Given the description of an element on the screen output the (x, y) to click on. 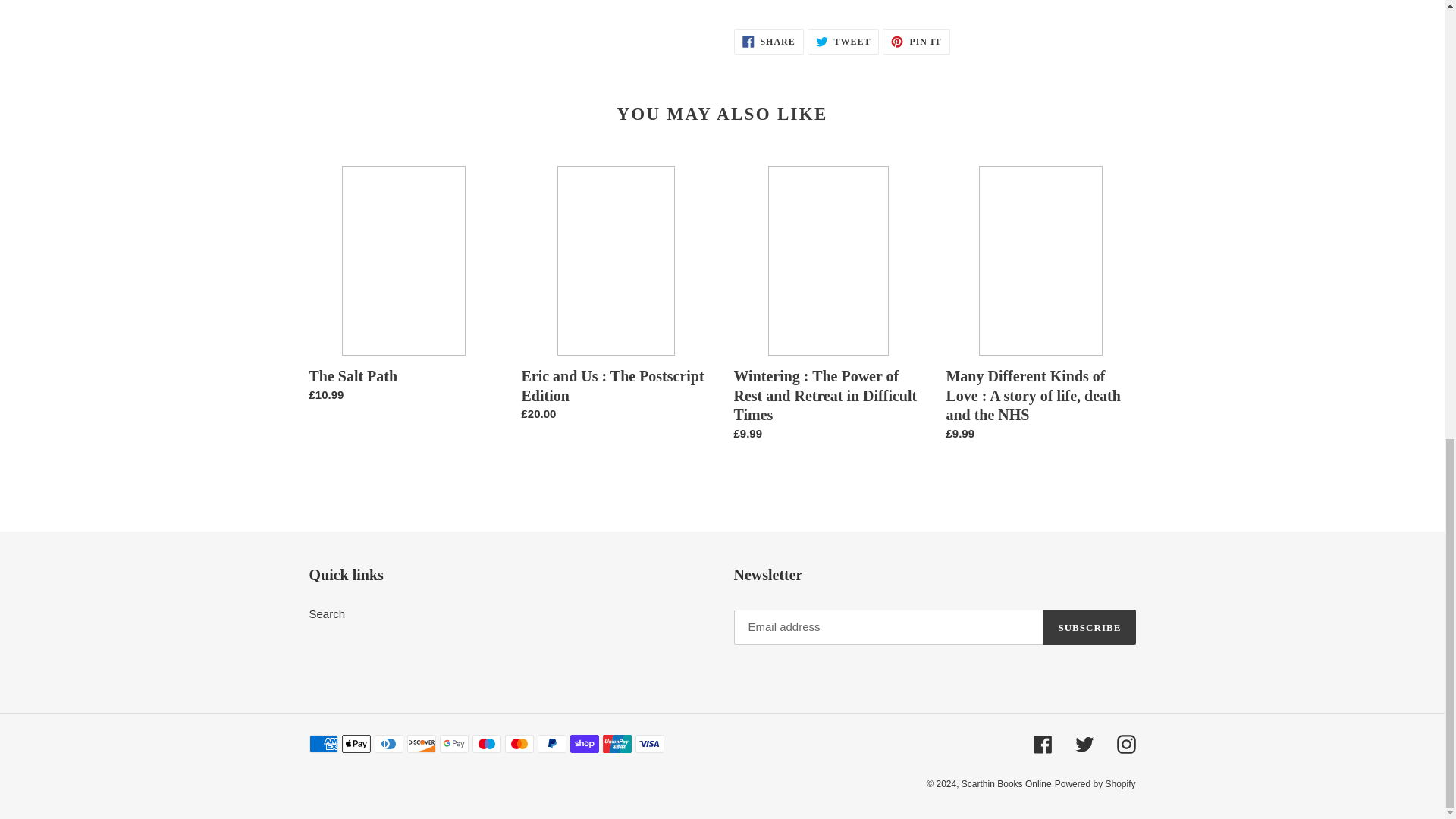
Search (327, 613)
Twitter (1084, 743)
Facebook (768, 41)
Scarthin Books Online (843, 41)
SUBSCRIBE (1041, 743)
Powered by Shopify (1005, 783)
Instagram (915, 41)
